Given the description of an element on the screen output the (x, y) to click on. 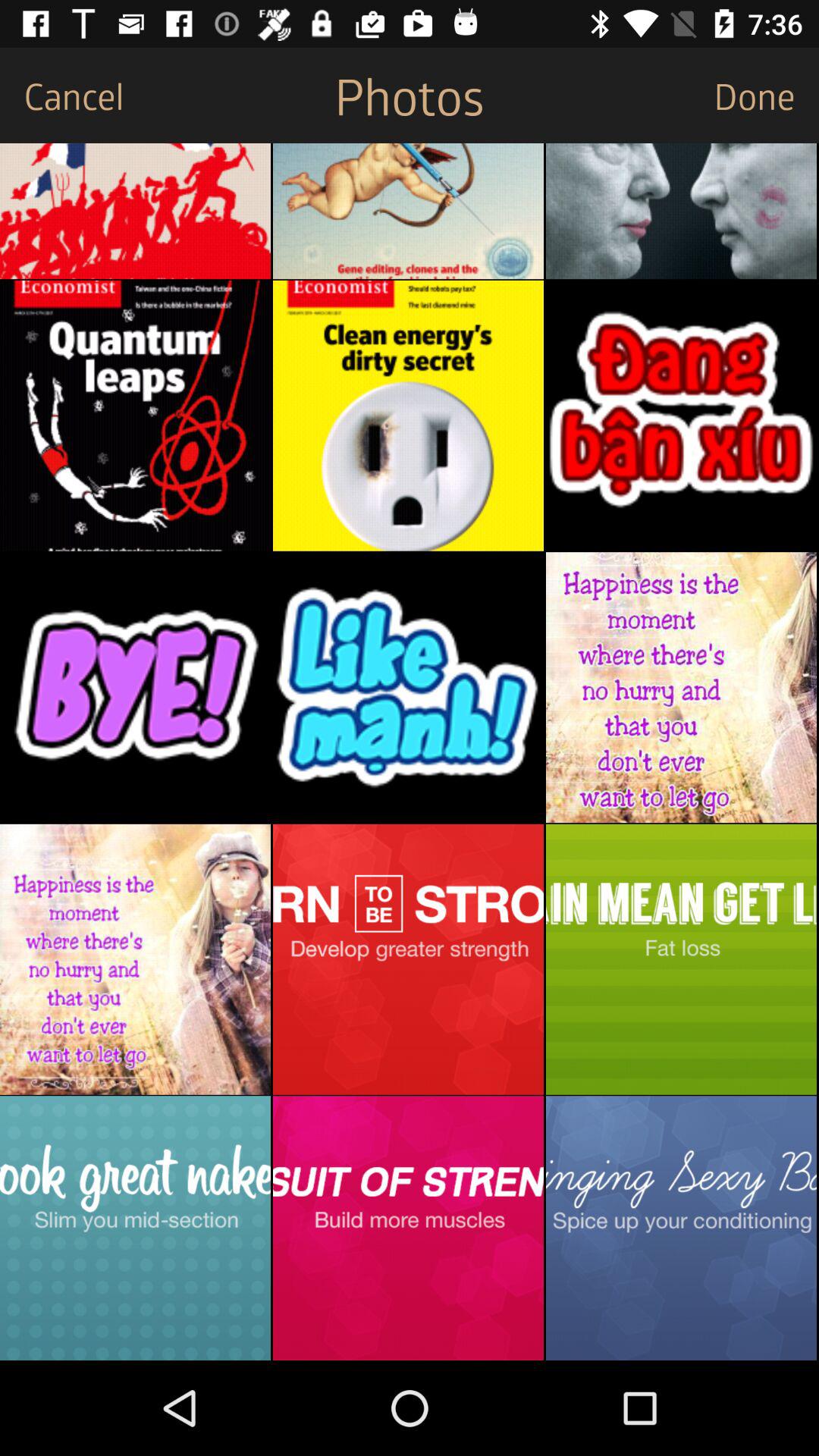
select one picture (135, 211)
